Given the description of an element on the screen output the (x, y) to click on. 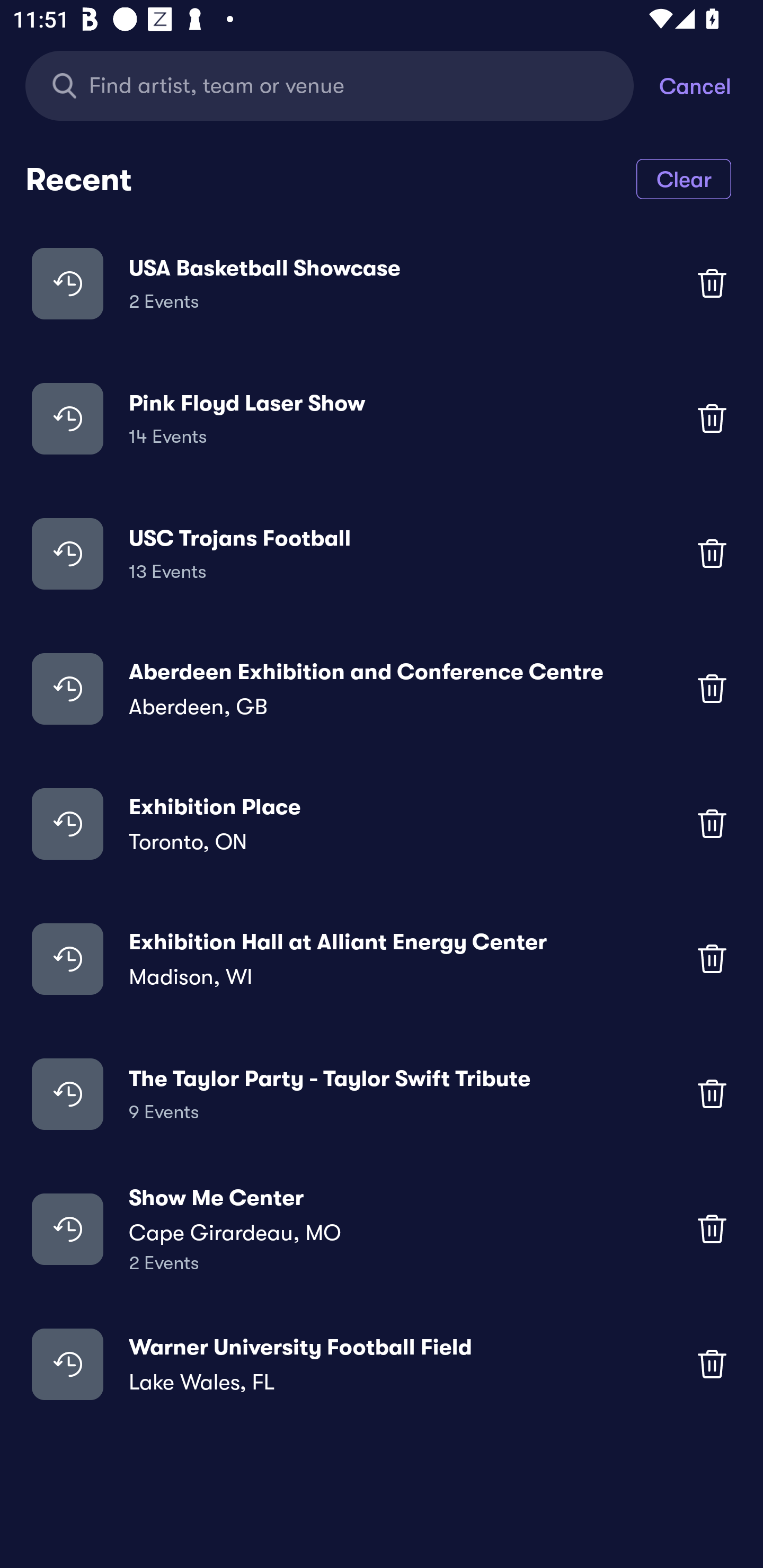
Find artist, team or venue Find (329, 85)
Find artist, team or venue Find (342, 85)
Cancel (711, 85)
Clear (683, 178)
USA Basketball Showcase 2 Events (381, 282)
Pink Floyd Laser Show 14 Events (381, 417)
USC Trojans Football 13 Events (381, 553)
Exhibition Place Toronto, ON (381, 823)
The Taylor Party - Taylor Swift Tribute 9 Events (381, 1093)
Show Me Center Cape Girardeau, MO 2 Events (381, 1228)
Warner University Football Field Lake Wales, FL (381, 1364)
